Given the description of an element on the screen output the (x, y) to click on. 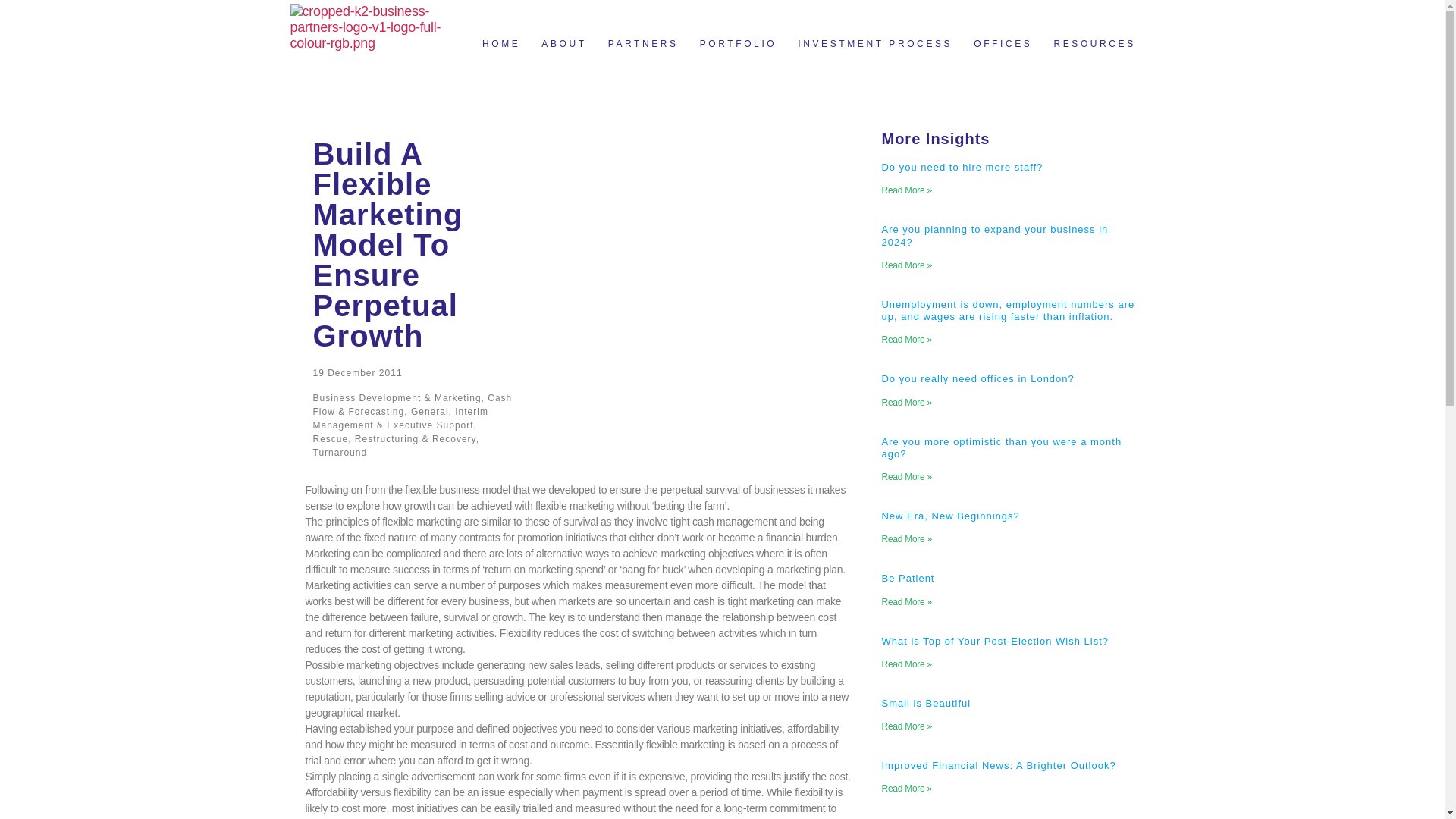
General (429, 411)
HOME (501, 43)
Do you need to hire more staff? (961, 166)
OFFICES (1002, 43)
PORTFOLIO (737, 43)
ABOUT (563, 43)
INVESTMENT PROCESS (874, 43)
PARTNERS (642, 43)
RESOURCES (1093, 43)
